Given the description of an element on the screen output the (x, y) to click on. 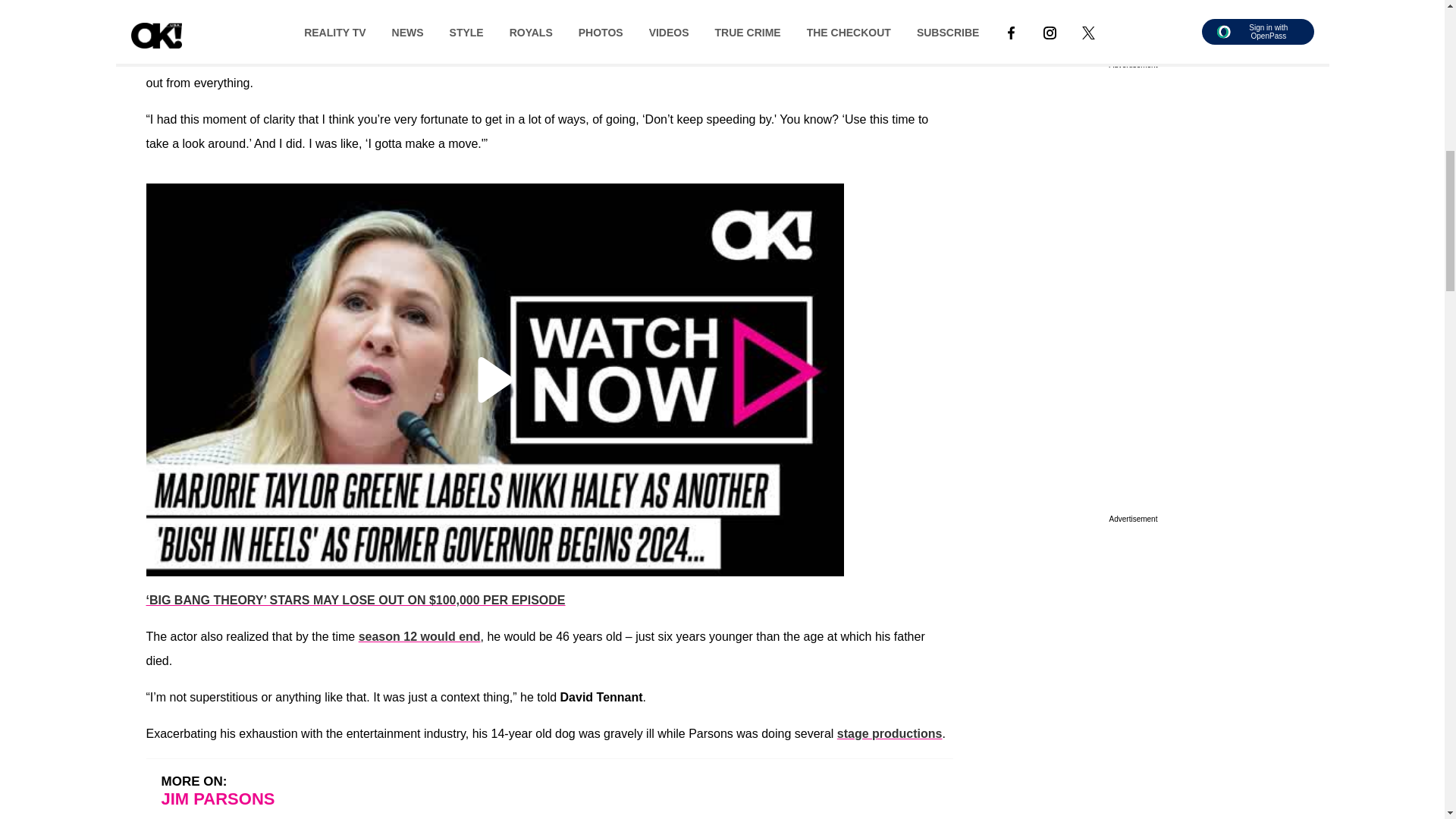
Jim Parsons (180, 2)
